Given the description of an element on the screen output the (x, y) to click on. 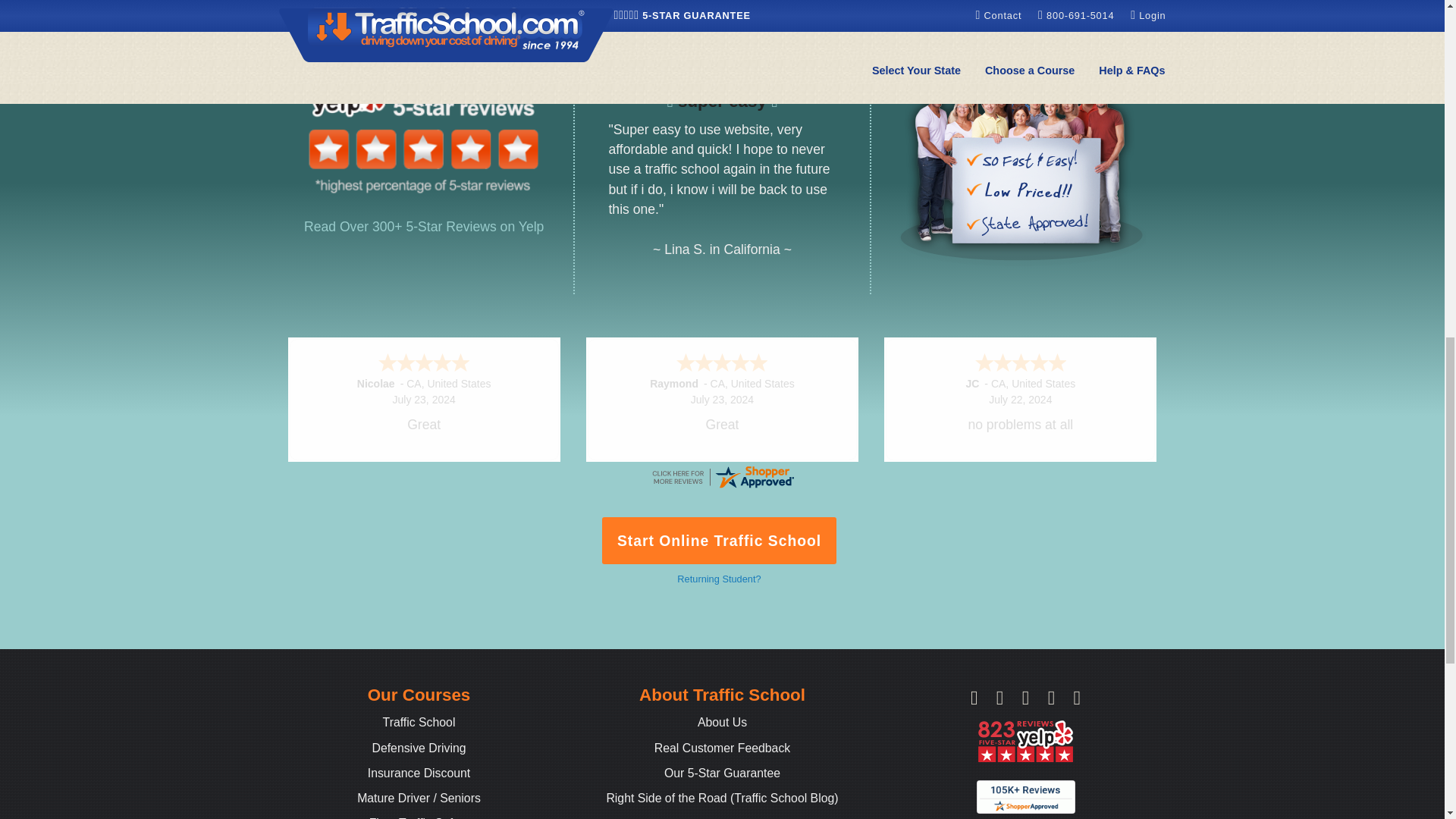
Auto Insurance Discount Course (419, 772)
Online Defensive Driving (418, 748)
Fleet Traffic Safety (418, 817)
Returning Student? (718, 578)
Start Online Traffic School (719, 540)
Fleet Safety Online (418, 817)
Defensive Driving (418, 748)
About Us (721, 721)
Traffic School Online (418, 721)
Traffic School (418, 721)
Mature Driving Course for Seniors (418, 797)
Insurance Discount (419, 772)
